Given the description of an element on the screen output the (x, y) to click on. 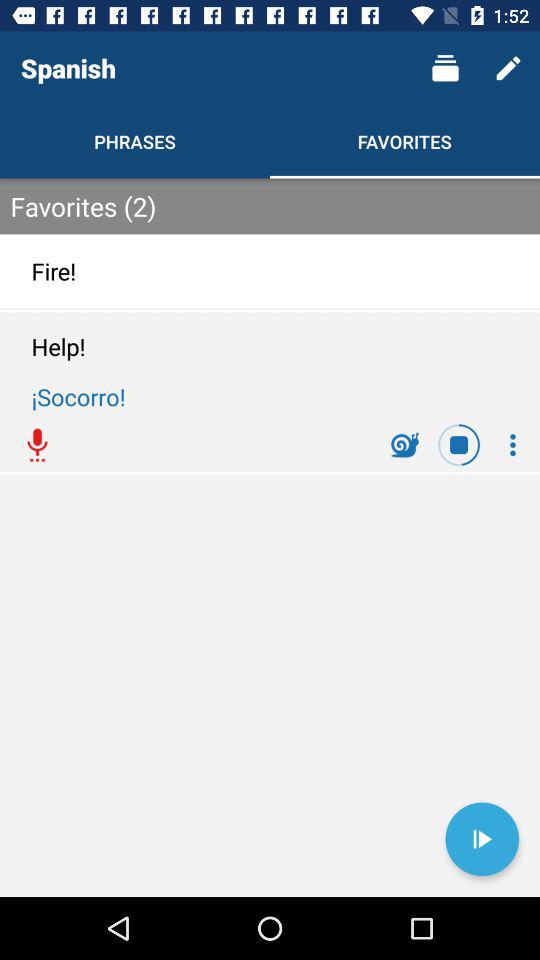
turn off the icon at the bottom right corner (482, 839)
